Given the description of an element on the screen output the (x, y) to click on. 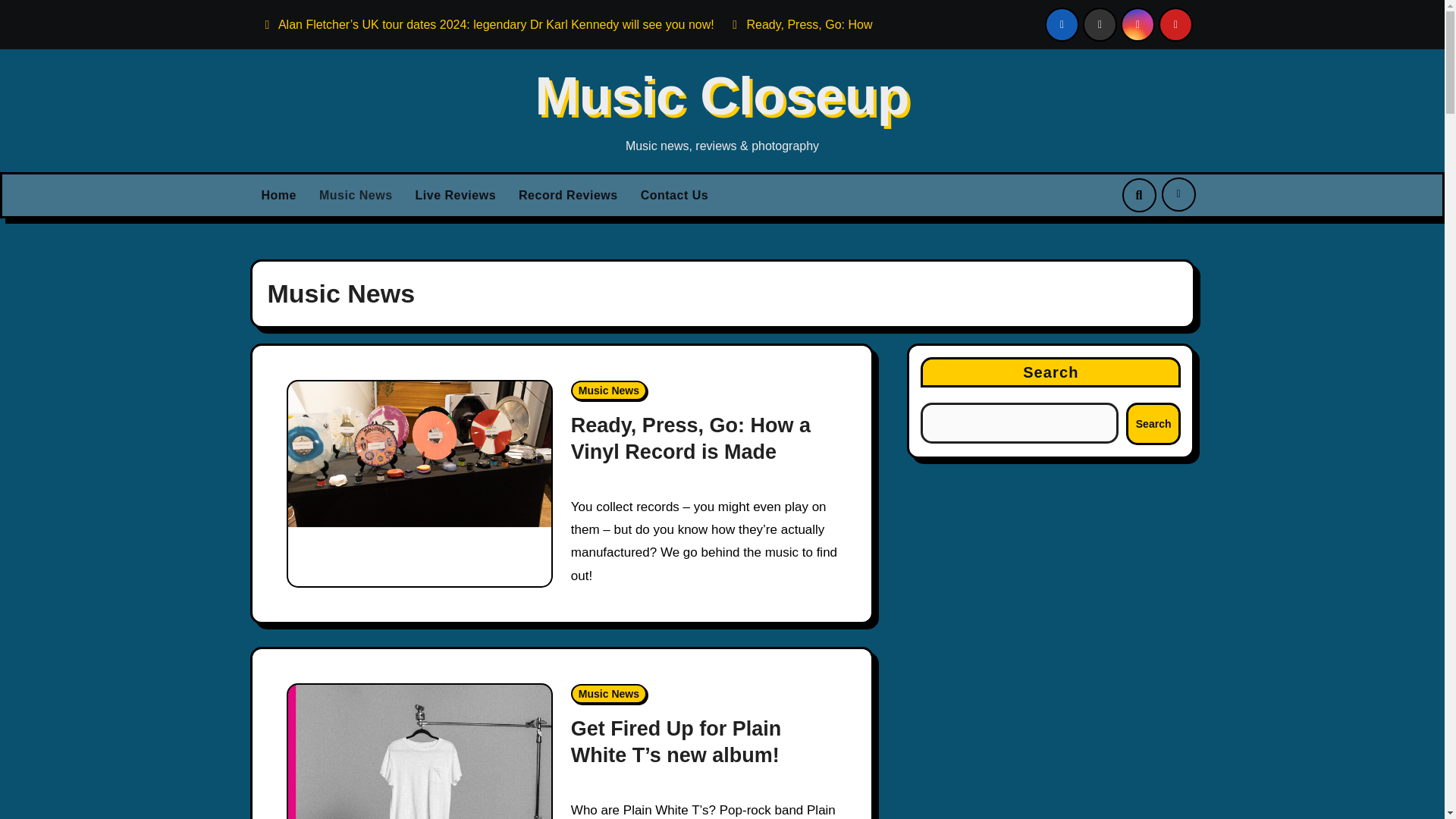
Contact Us (673, 196)
Music News (608, 693)
Home (278, 196)
Live Reviews (456, 196)
Record Reviews (567, 196)
Ready, Press, Go: How a Vinyl Record is Made (690, 438)
Music Closeup (722, 96)
Music News (355, 196)
Ready, Press, Go: How a Vinyl Record is Made (860, 24)
Music News (355, 196)
Record Reviews (567, 196)
Music News (608, 390)
Home (278, 196)
Live Reviews (456, 196)
Contact Us (673, 196)
